Given the description of an element on the screen output the (x, y) to click on. 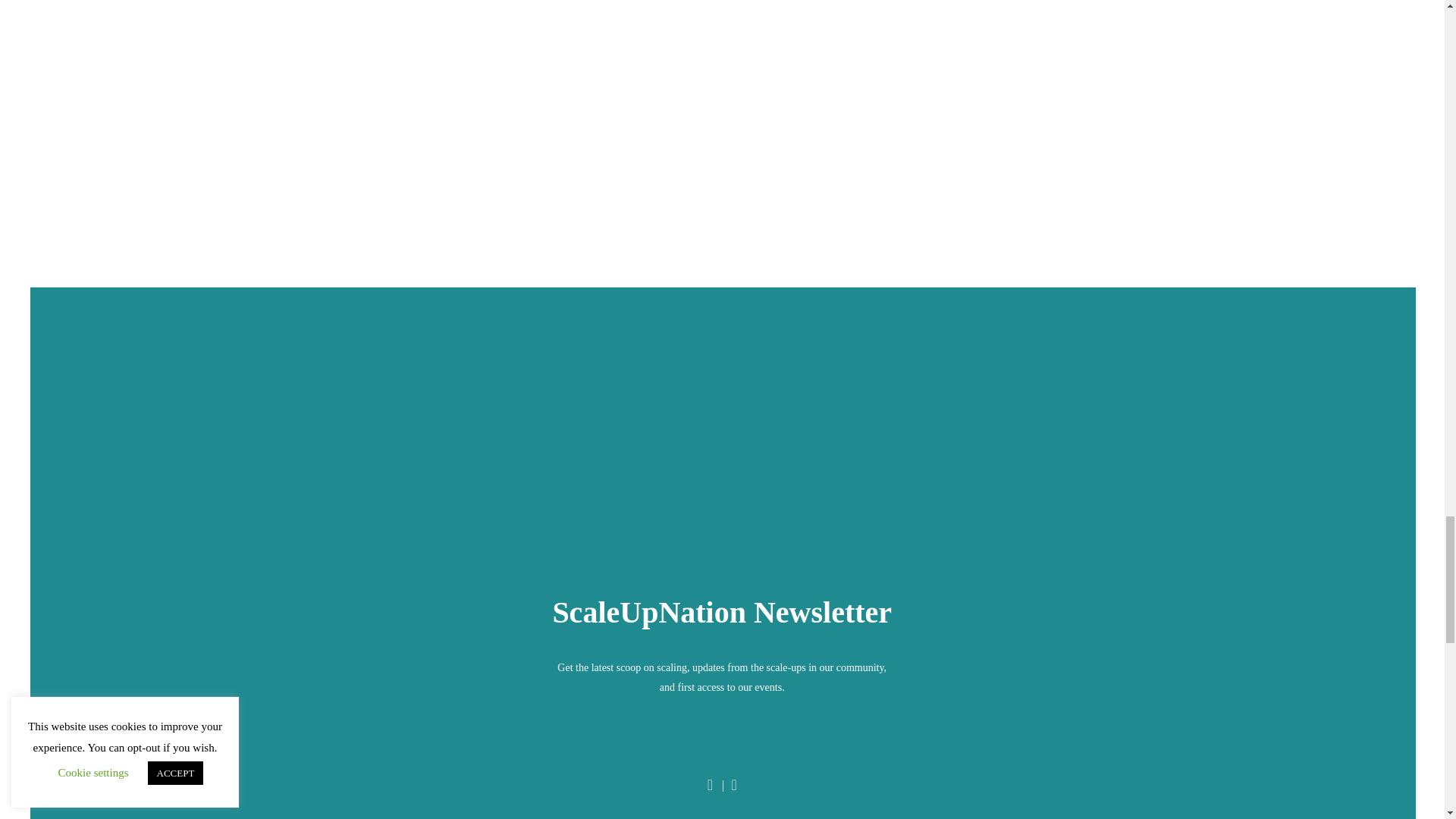
Share this (711, 785)
Share this (733, 785)
